Given the description of an element on the screen output the (x, y) to click on. 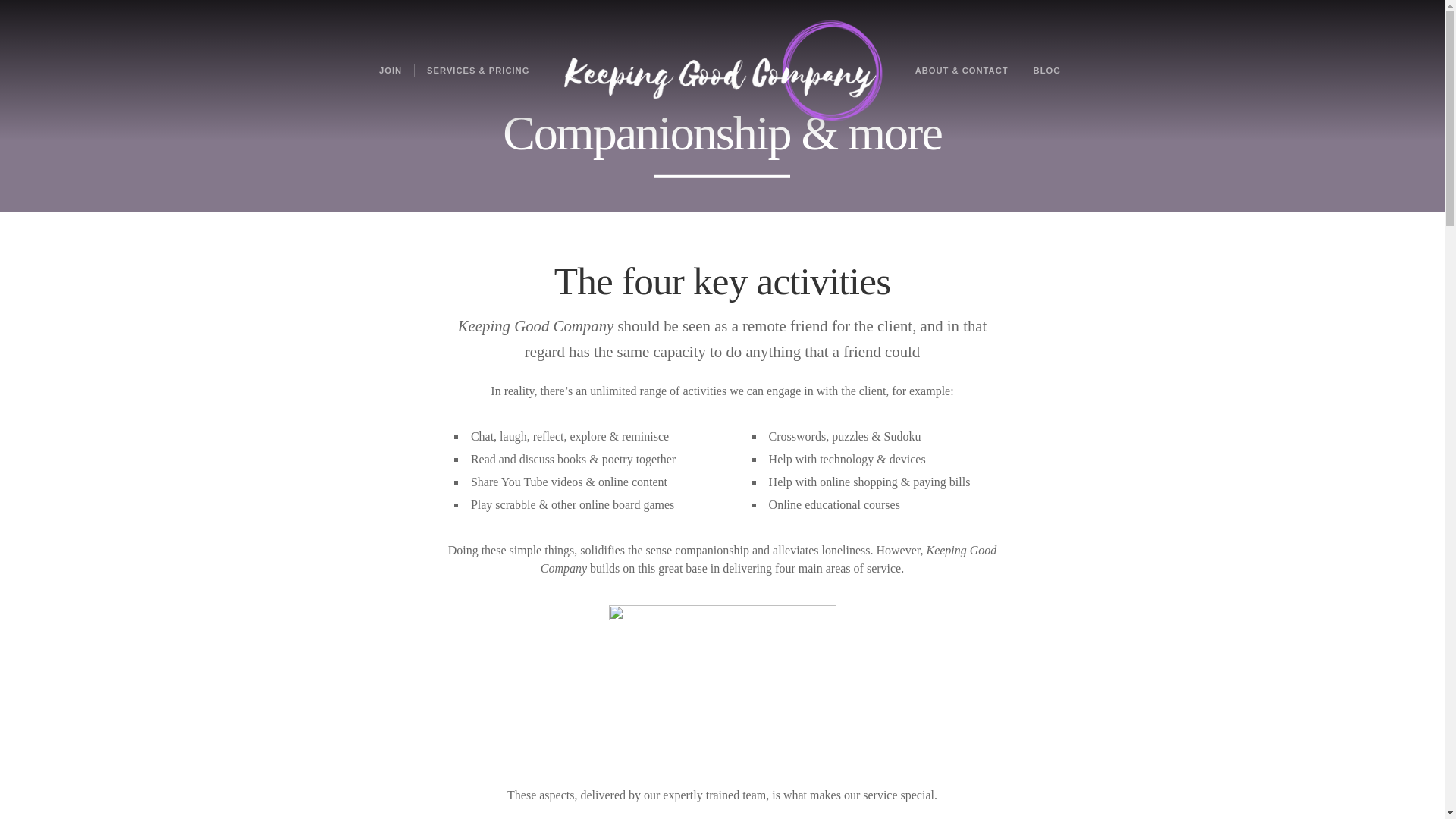
Keeping Good Company (721, 70)
BLOG (1046, 69)
JOIN (389, 69)
